Given the description of an element on the screen output the (x, y) to click on. 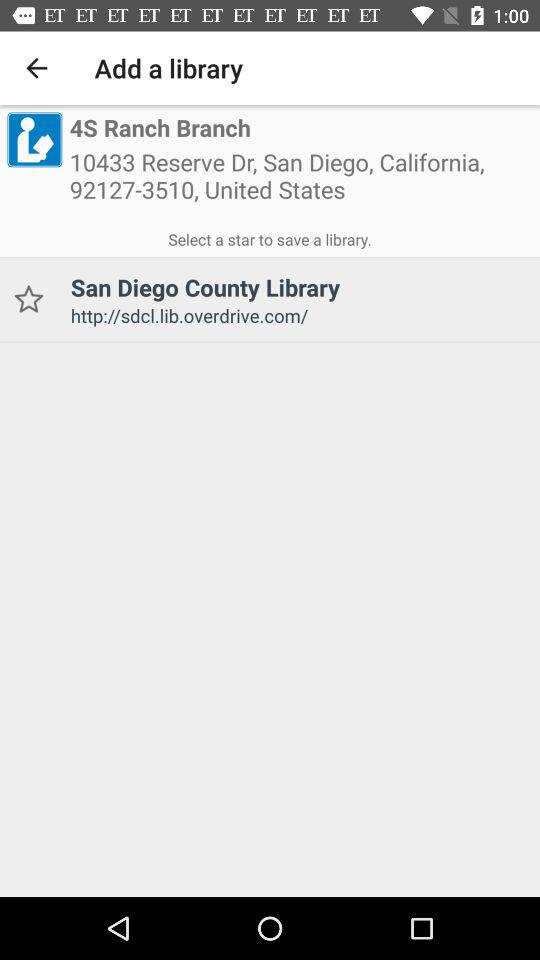
turn on the 4s ranch branch (159, 128)
